Given the description of an element on the screen output the (x, y) to click on. 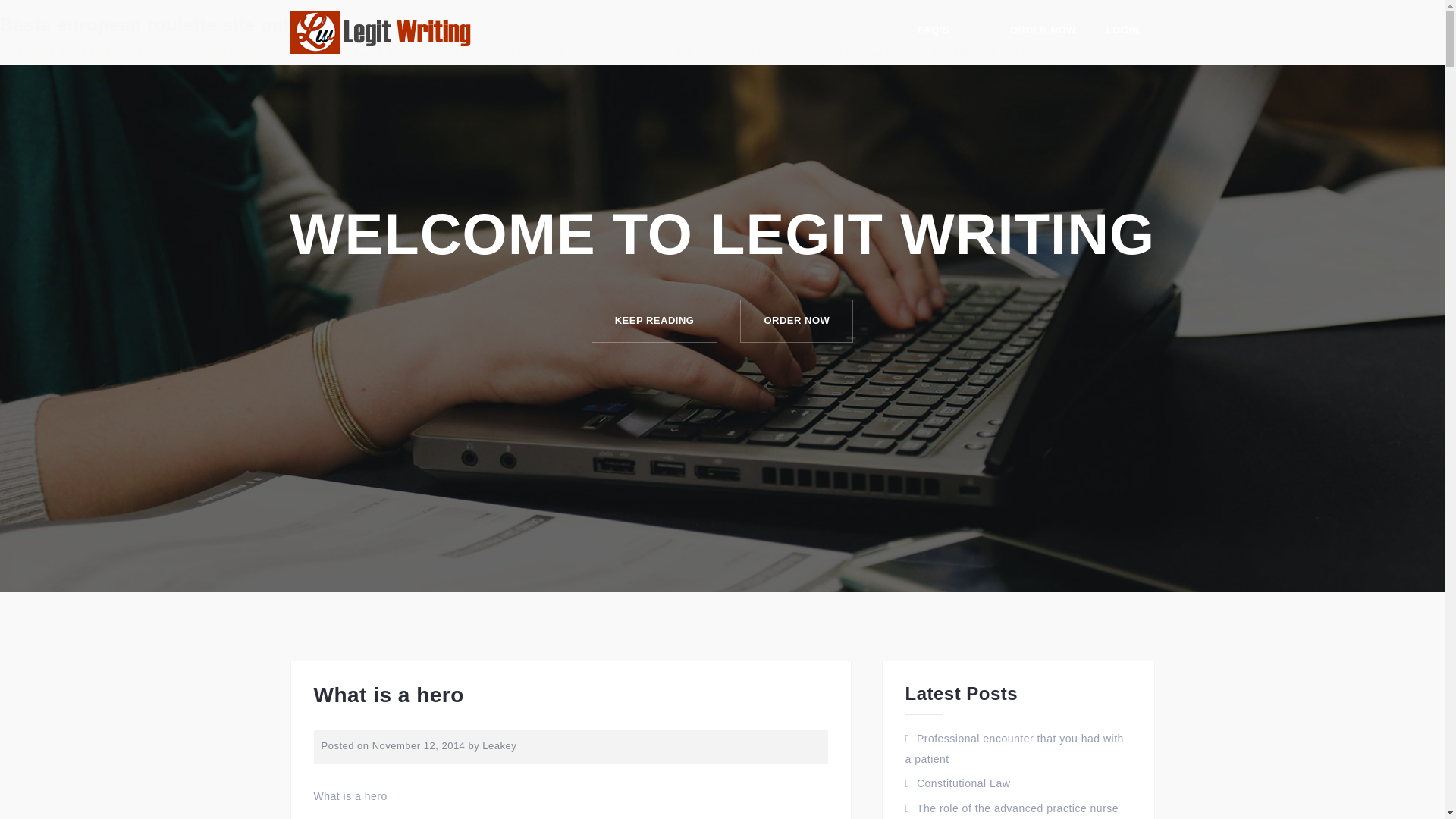
Leakey (498, 745)
KEEP READING (654, 321)
Professional encounter that you had with a patient (1014, 748)
LegitWriting (380, 31)
LOGIN (1123, 32)
ORDER NOW (1042, 32)
November 12, 2014 (418, 745)
Constitutional Law (963, 783)
ORDER NOW (796, 321)
Ladda Ner Casino Roulette Application (98, 314)
